Given the description of an element on the screen output the (x, y) to click on. 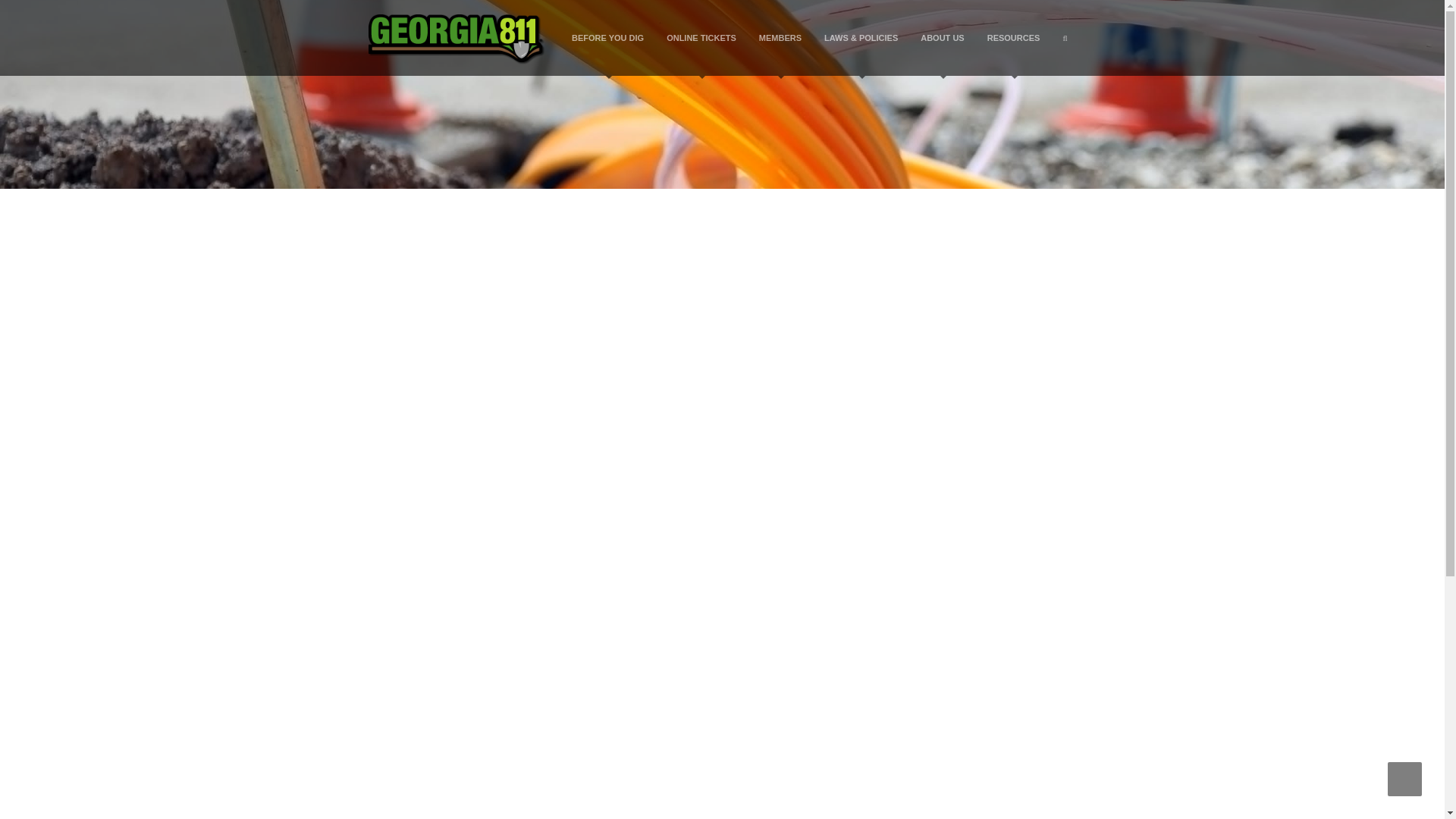
ONLINE TICKETS (701, 38)
BEFORE YOU DIG (607, 38)
